Given the description of an element on the screen output the (x, y) to click on. 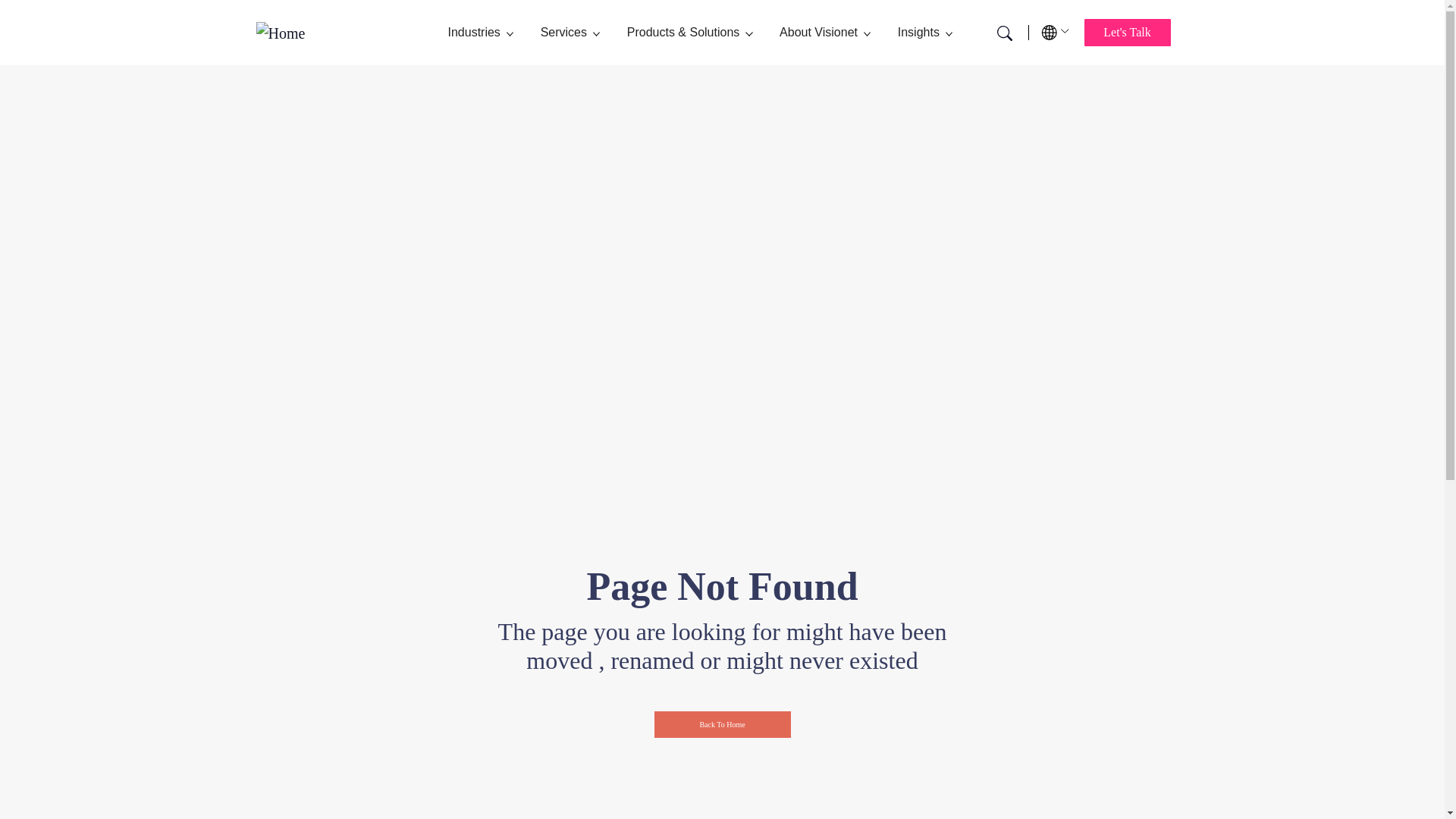
Home (286, 32)
Skip to main content (56, 10)
